Given the description of an element on the screen output the (x, y) to click on. 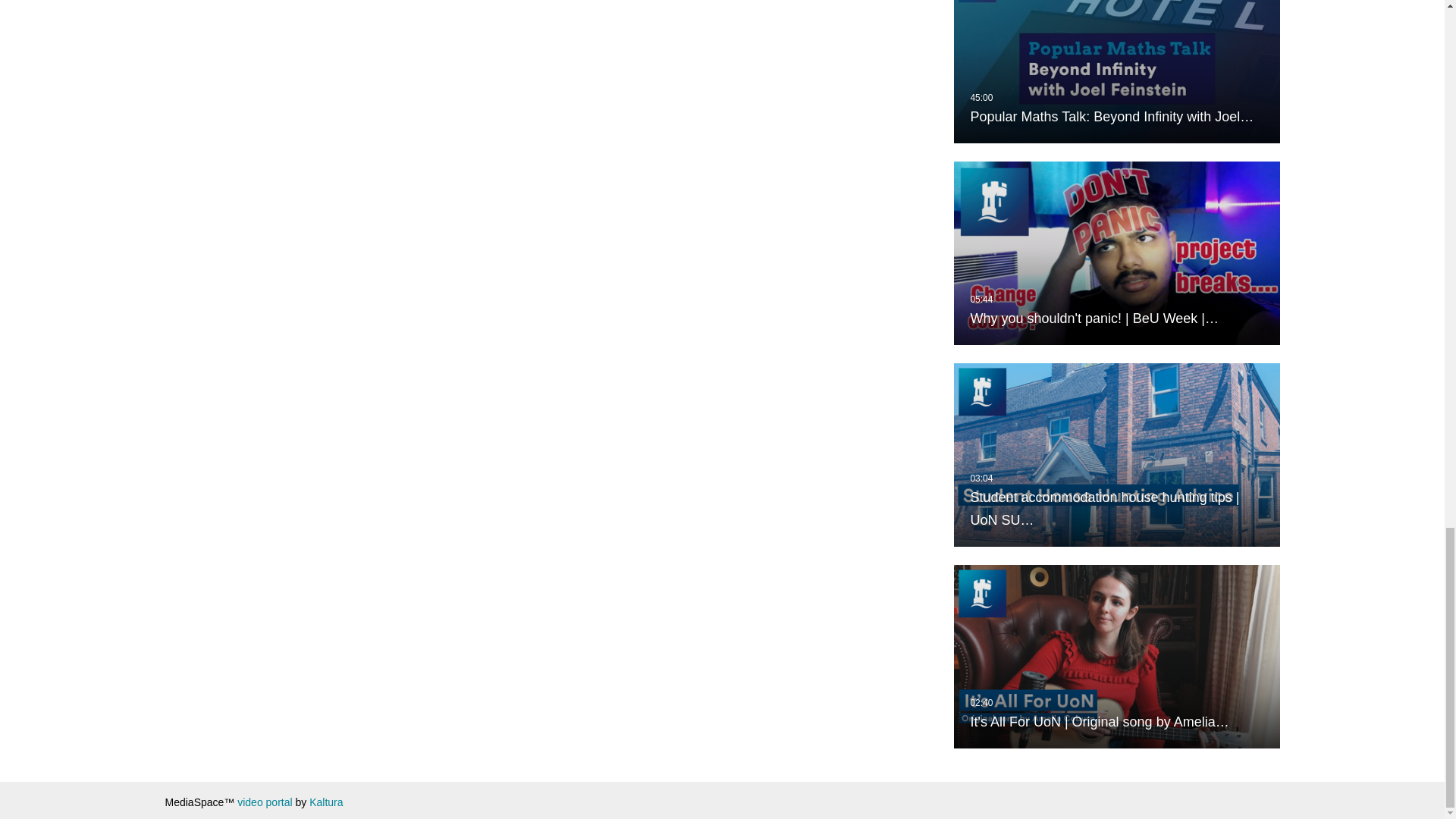
Popular Maths Talk: Beyond Infinity with Joel Feinstein (1116, 71)
